Given the description of an element on the screen output the (x, y) to click on. 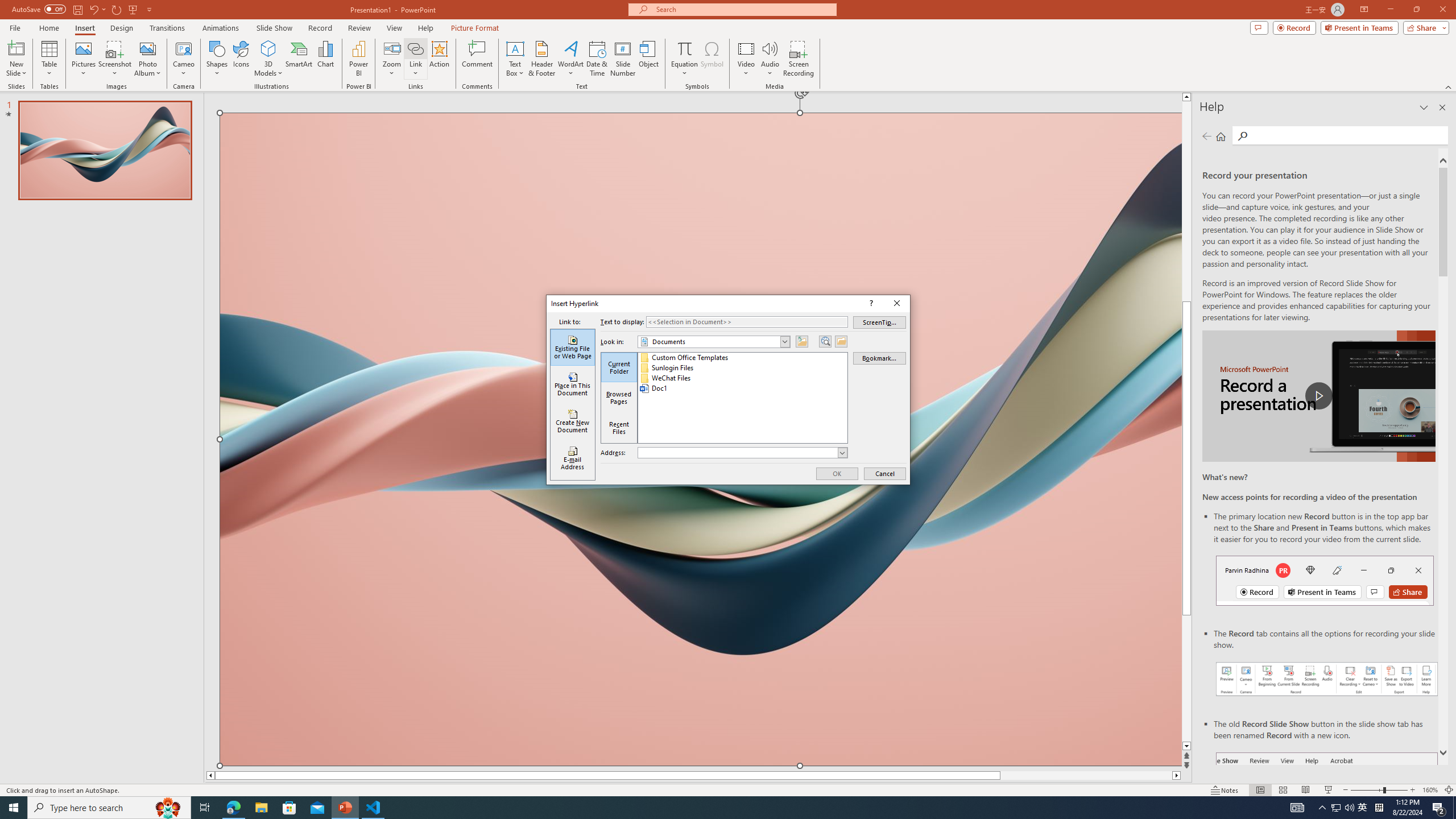
Header & Footer... (541, 58)
Zoom 160% (1430, 790)
Slide Number (622, 58)
Draw Horizontal Text Box (515, 48)
RichEdit Control (738, 452)
Comment (476, 58)
Create New Document (572, 421)
ScreenTip... (880, 322)
